Given the description of an element on the screen output the (x, y) to click on. 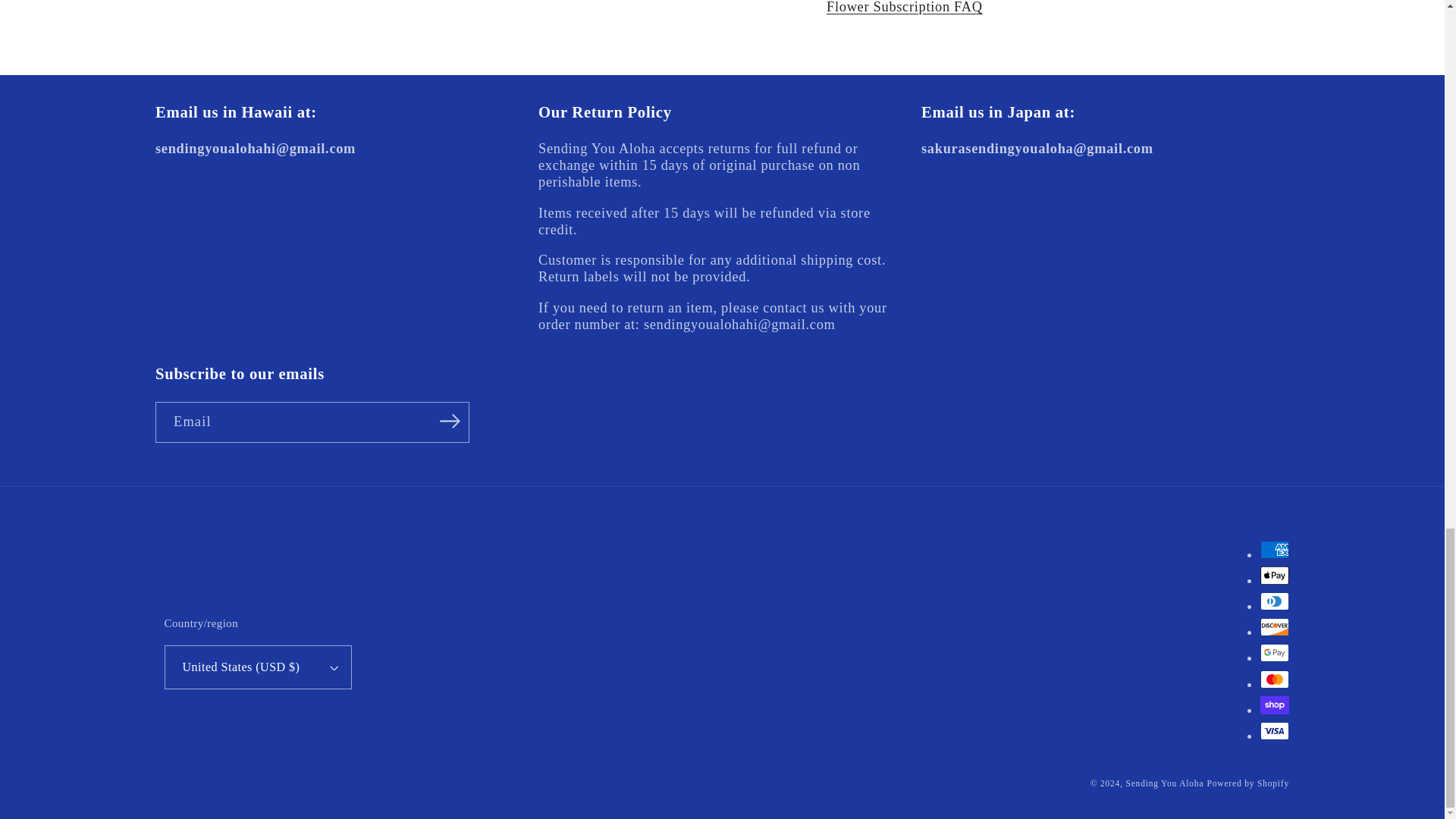
Apple Pay (1274, 575)
Shop Pay (1274, 705)
American Express (1274, 549)
Diners Club (1274, 601)
Mastercard (1274, 679)
Discover (1274, 627)
Visa (1274, 730)
Google Pay (1274, 652)
